Given the description of an element on the screen output the (x, y) to click on. 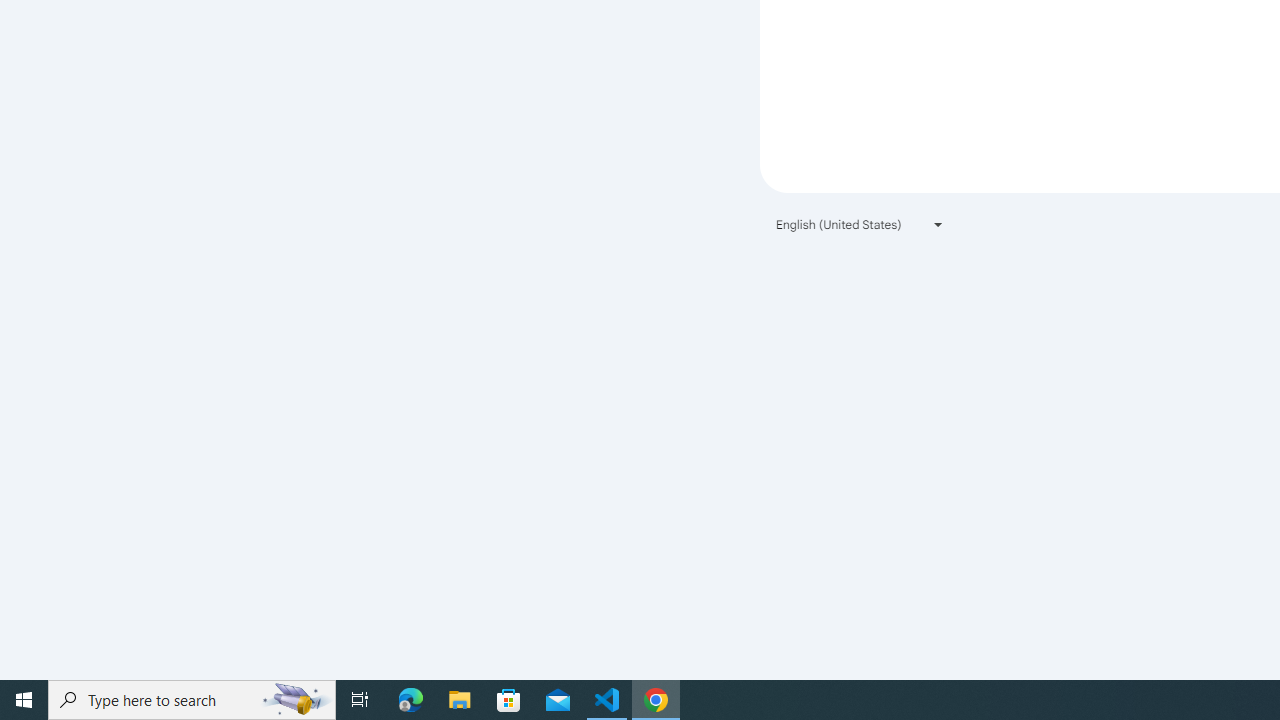
English (United States) (860, 224)
